Given the description of an element on the screen output the (x, y) to click on. 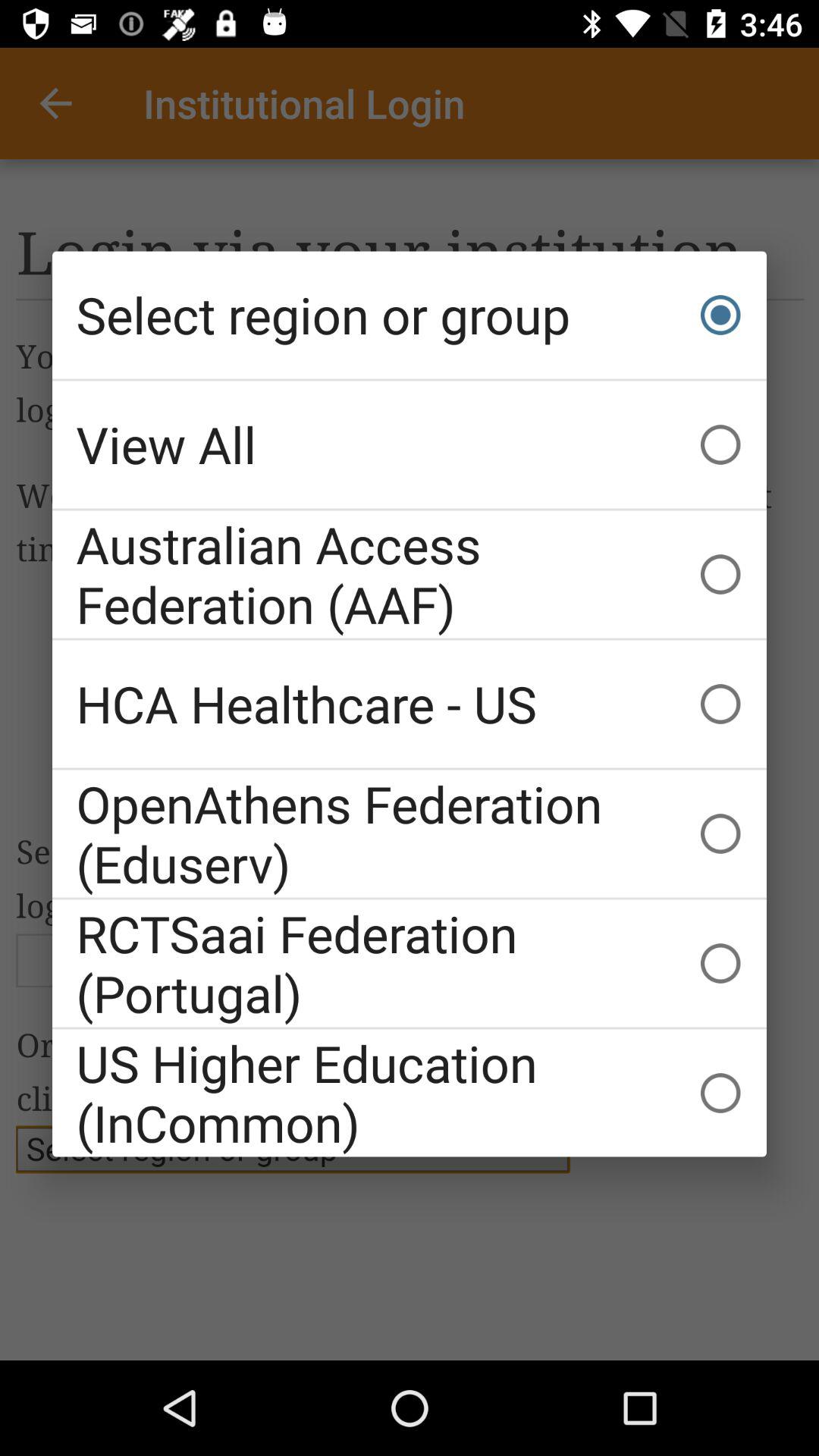
launch the rctsaai federation (portugal) item (409, 963)
